Given the description of an element on the screen output the (x, y) to click on. 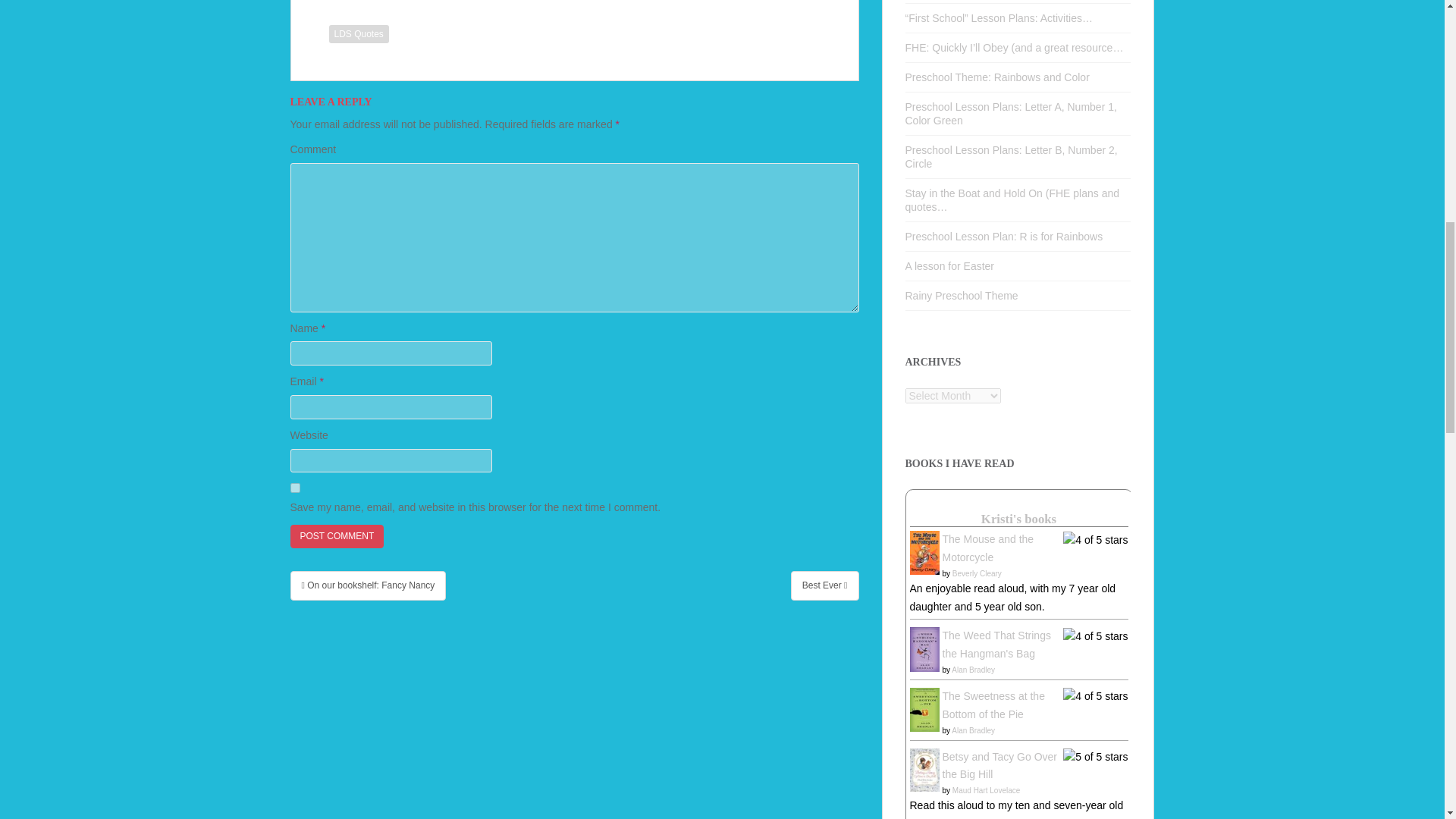
Best Ever (824, 584)
4 of 5 stars, really liked it (1094, 540)
Alan Bradley (973, 669)
Preschool Theme: Rainbows and Color (997, 77)
Post Comment (336, 535)
On our bookshelf: Fancy Nancy (367, 584)
5 of 5 stars, it was amazing (1094, 757)
Kristi's books (1019, 518)
The Mouse and the Motorcycle (987, 548)
Post Comment (336, 535)
4 of 5 stars, really liked it (1094, 696)
yes (294, 488)
A lesson for Easter (949, 265)
Preschool Lesson Plan: R is for Rainbows (1004, 236)
LDS Quotes (358, 34)
